Given the description of an element on the screen output the (x, y) to click on. 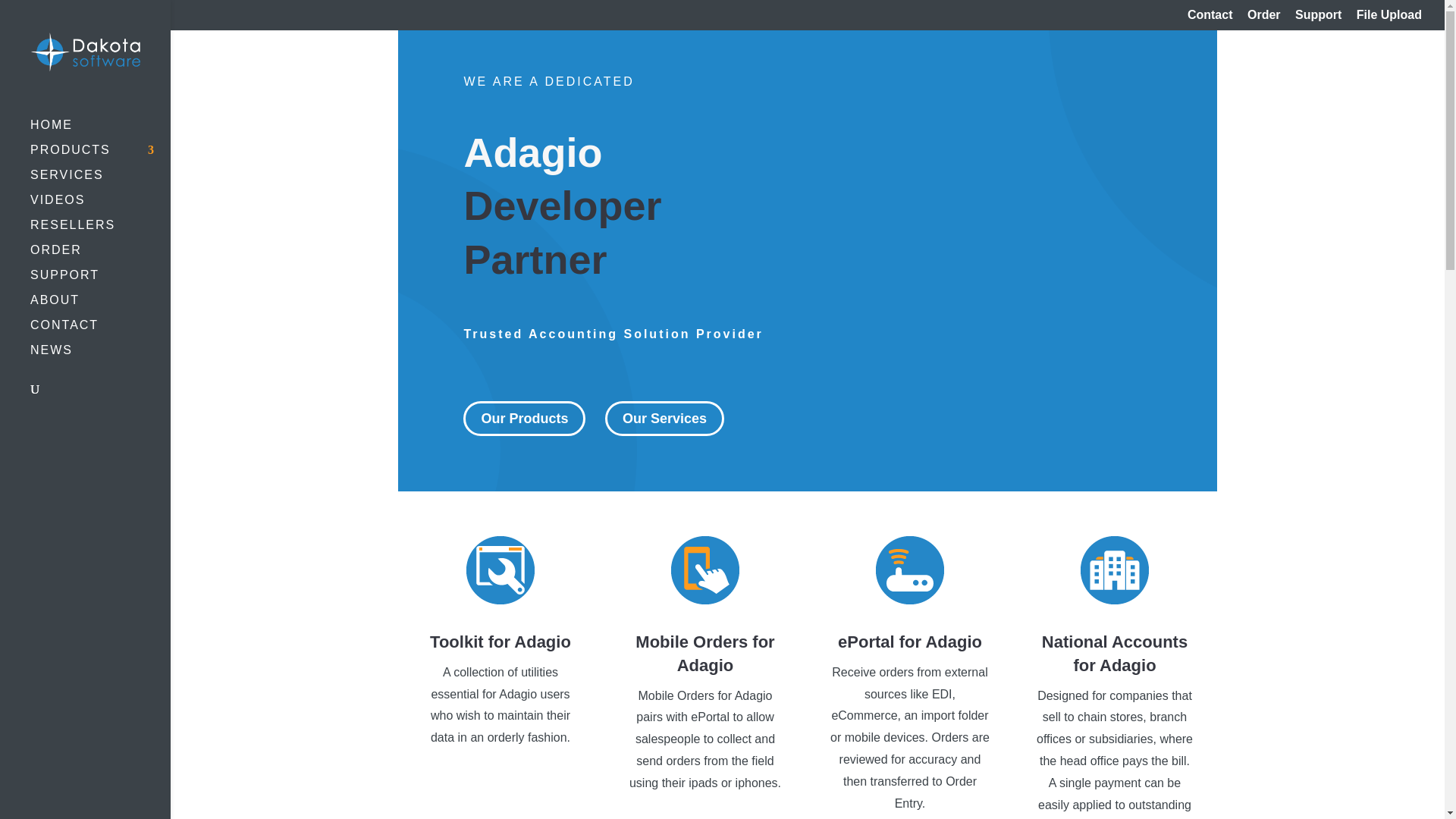
ORDER (100, 257)
HOME (100, 131)
File Upload (1389, 19)
Contact (1210, 19)
VIDEOS (100, 207)
PRODUCTS (100, 156)
NEWS (100, 357)
SERVICES (100, 181)
Support (1317, 19)
ABOUT (100, 307)
CONTACT (100, 332)
SUPPORT (100, 282)
RESELLERS (100, 232)
Order (1264, 19)
